Given the description of an element on the screen output the (x, y) to click on. 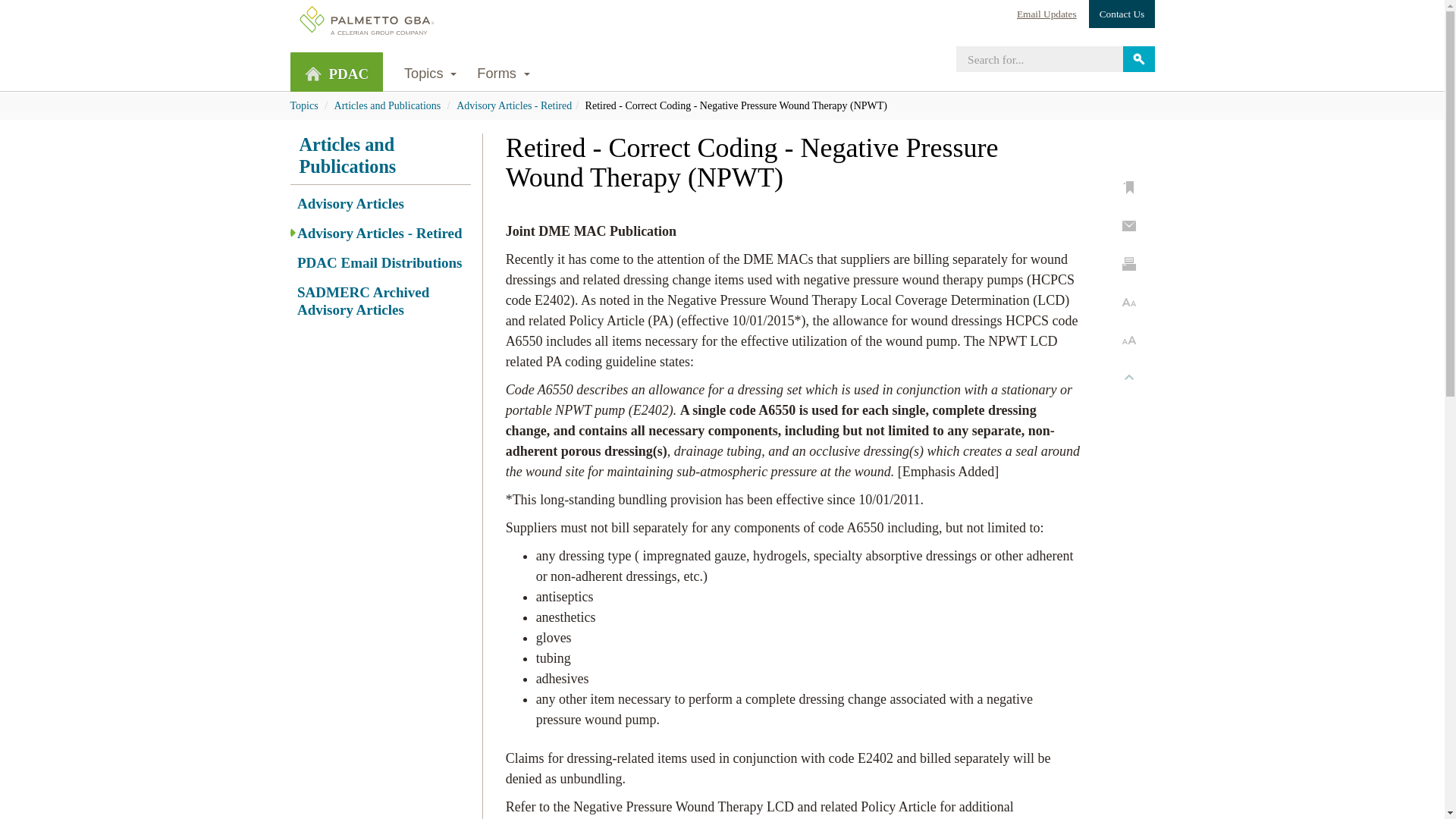
Contact Us (1121, 13)
PDAC Email Distributions (380, 262)
Topics (303, 105)
SADMERC Archived Advisory Articles (380, 301)
Advisory Articles - Retired (380, 233)
Articles and Publications (375, 155)
Advisory Articles (380, 203)
Email Updates (1046, 13)
Advisory Articles (380, 203)
Advisory Articles - Retired (514, 105)
Advisory Articles - Retired (380, 233)
Forms (503, 72)
Articles and Publications (387, 105)
Topics (429, 72)
PDAC (335, 71)
